Given the description of an element on the screen output the (x, y) to click on. 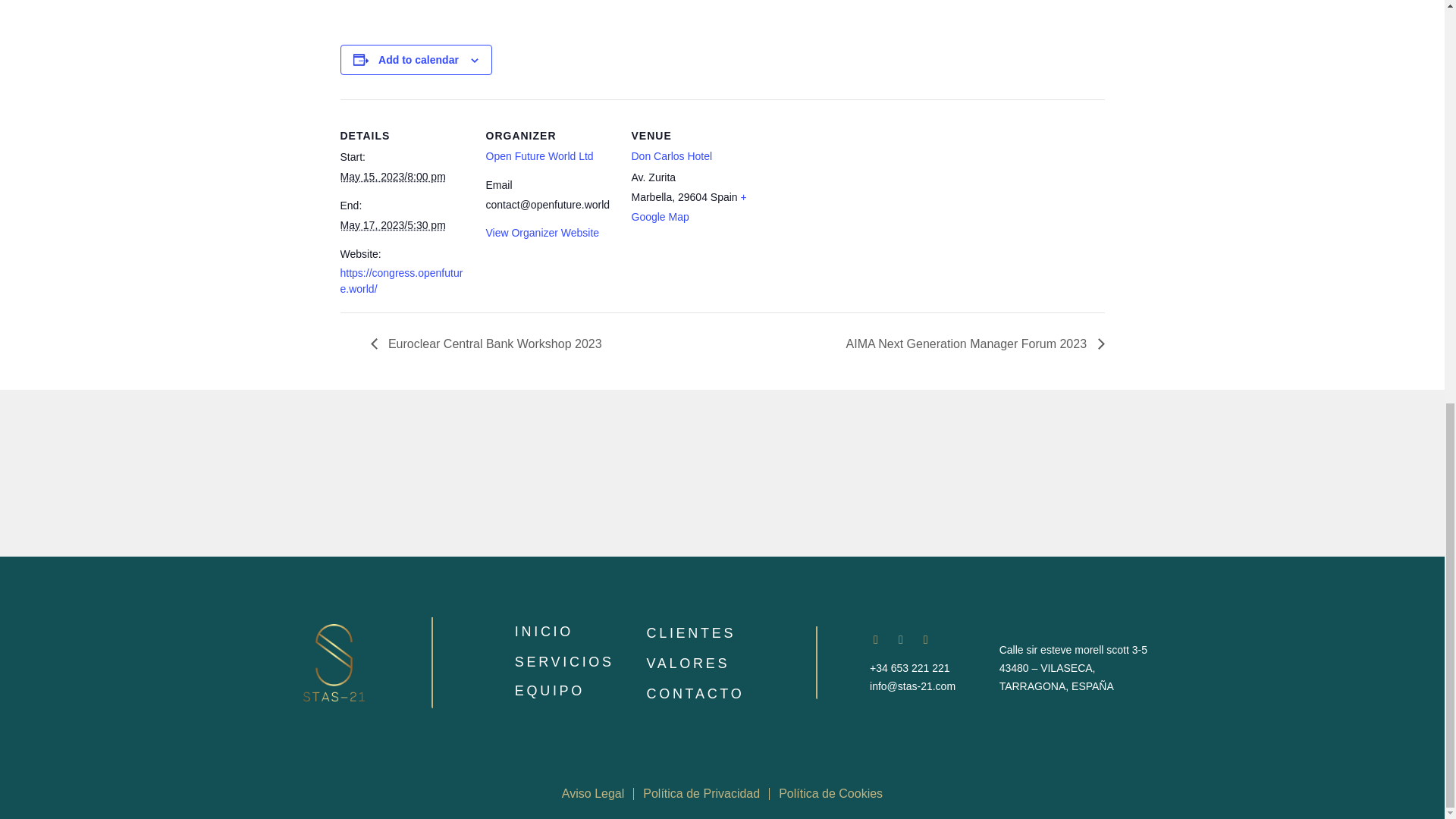
VALORES (687, 663)
AIMA Next Generation Manager Forum 2023 (971, 343)
Open Future World Ltd (538, 155)
Euroclear Central Bank Workshop 2023 (489, 343)
Open Future World Ltd (538, 155)
Add to calendar (418, 60)
Aviso Legal (593, 793)
EQUIPO (550, 690)
View Organizer Website (541, 232)
2023-05-17 (392, 224)
